Given the description of an element on the screen output the (x, y) to click on. 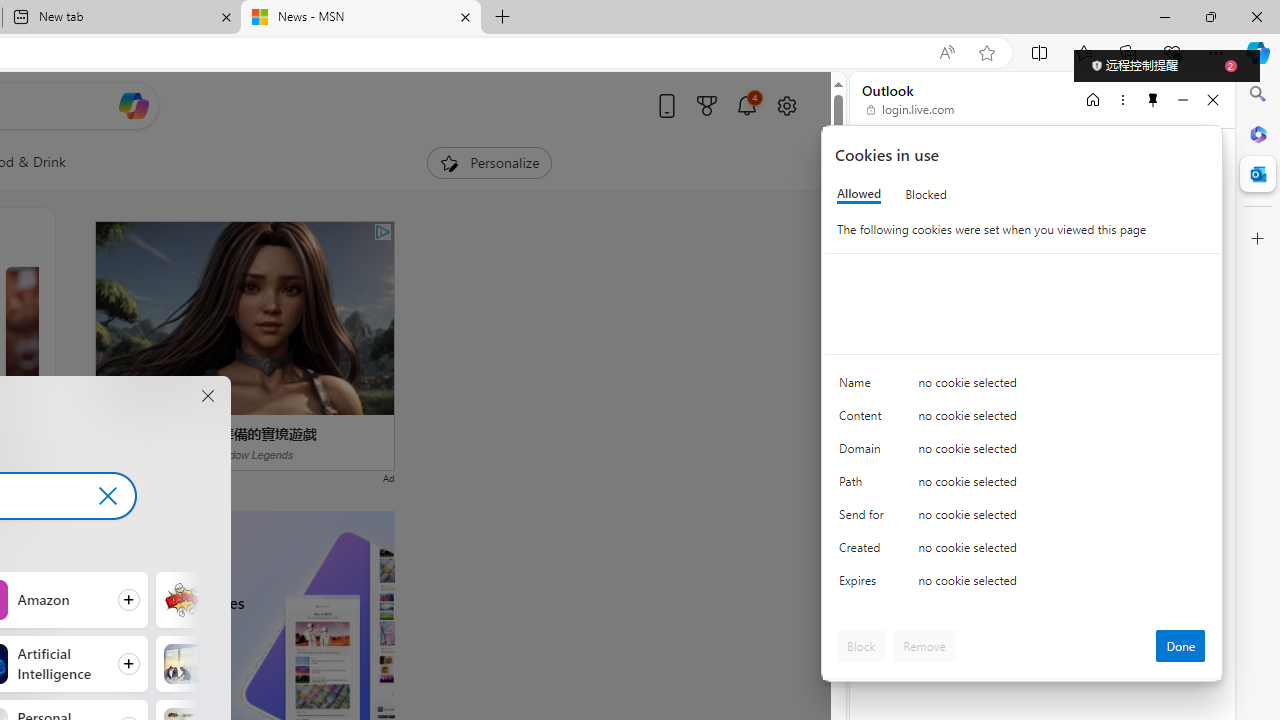
Blocked (925, 193)
Add this page to favorites (Ctrl+D) (986, 53)
Unpin side pane (1153, 99)
Class: creative__ad-choice_image (383, 231)
Follow Comics (249, 599)
Copilot (Ctrl+Shift+.) (1258, 52)
Search (1258, 94)
Content (864, 420)
Class: c0153 c0157 (1023, 584)
Path (864, 485)
Expires (864, 585)
Domain (864, 452)
Restore (1210, 16)
Open Copilot (132, 105)
